Given the description of an element on the screen output the (x, y) to click on. 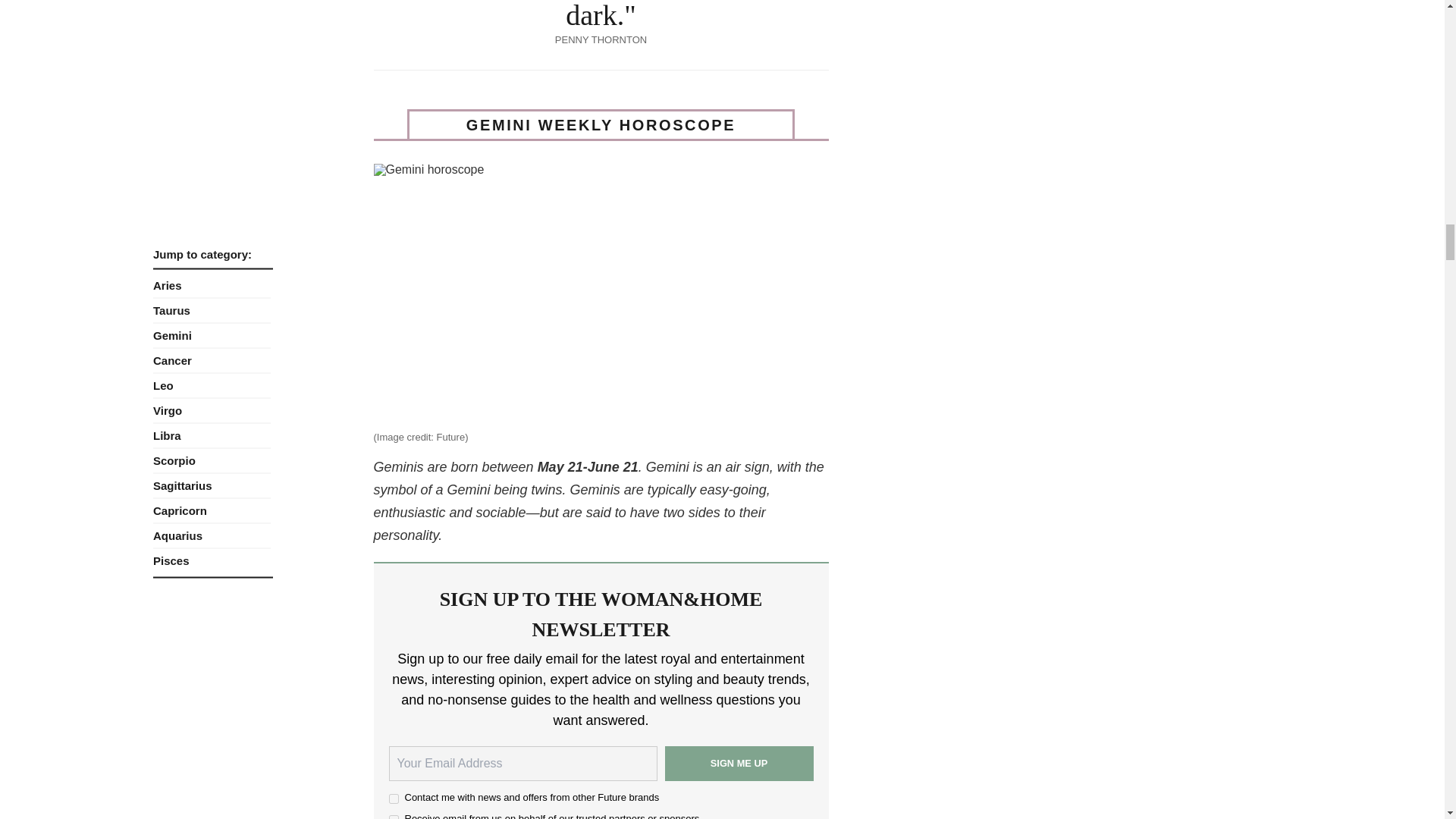
Sign me up (737, 763)
on (392, 798)
on (392, 816)
